Given the description of an element on the screen output the (x, y) to click on. 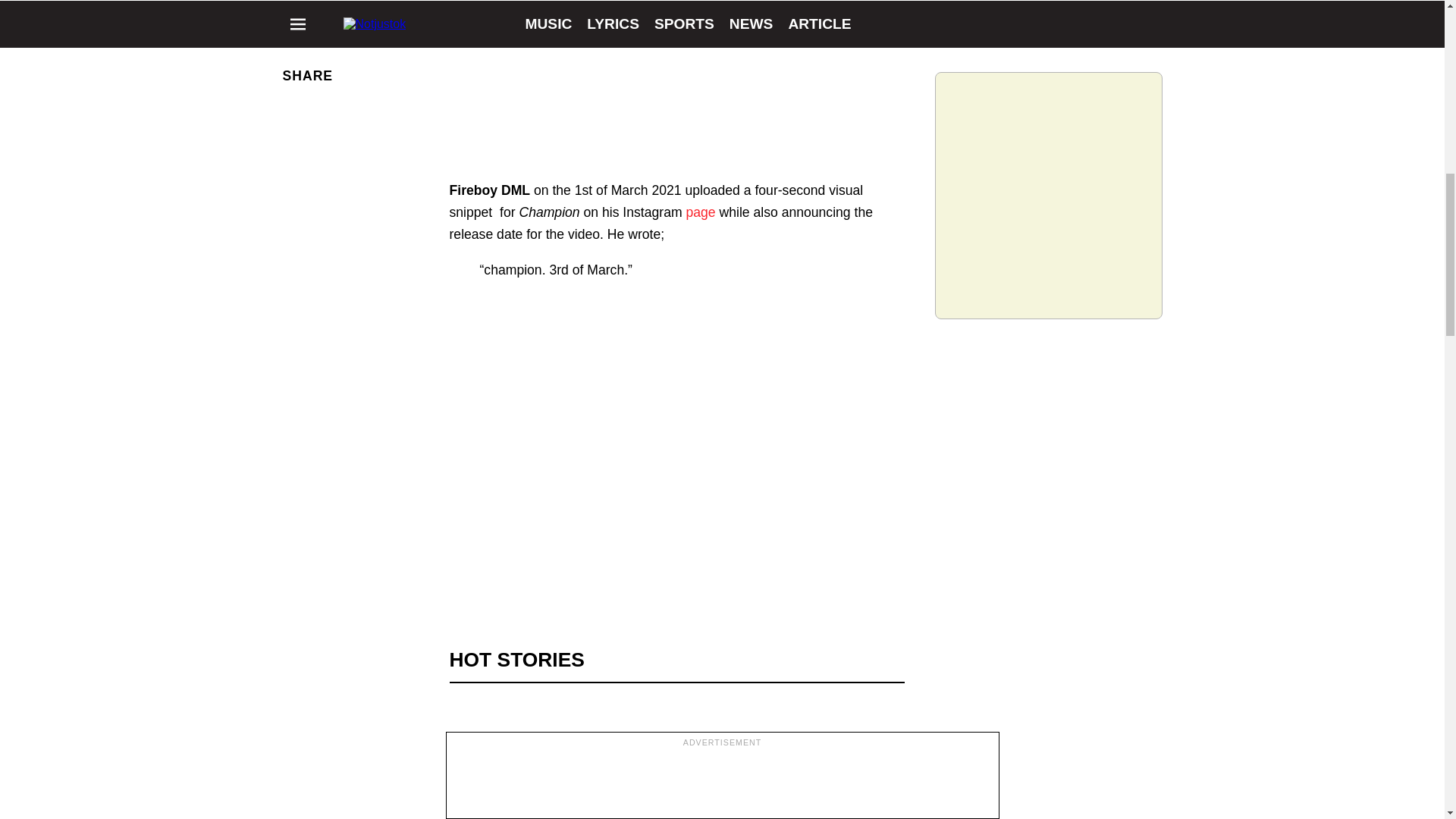
page (699, 212)
